Given the description of an element on the screen output the (x, y) to click on. 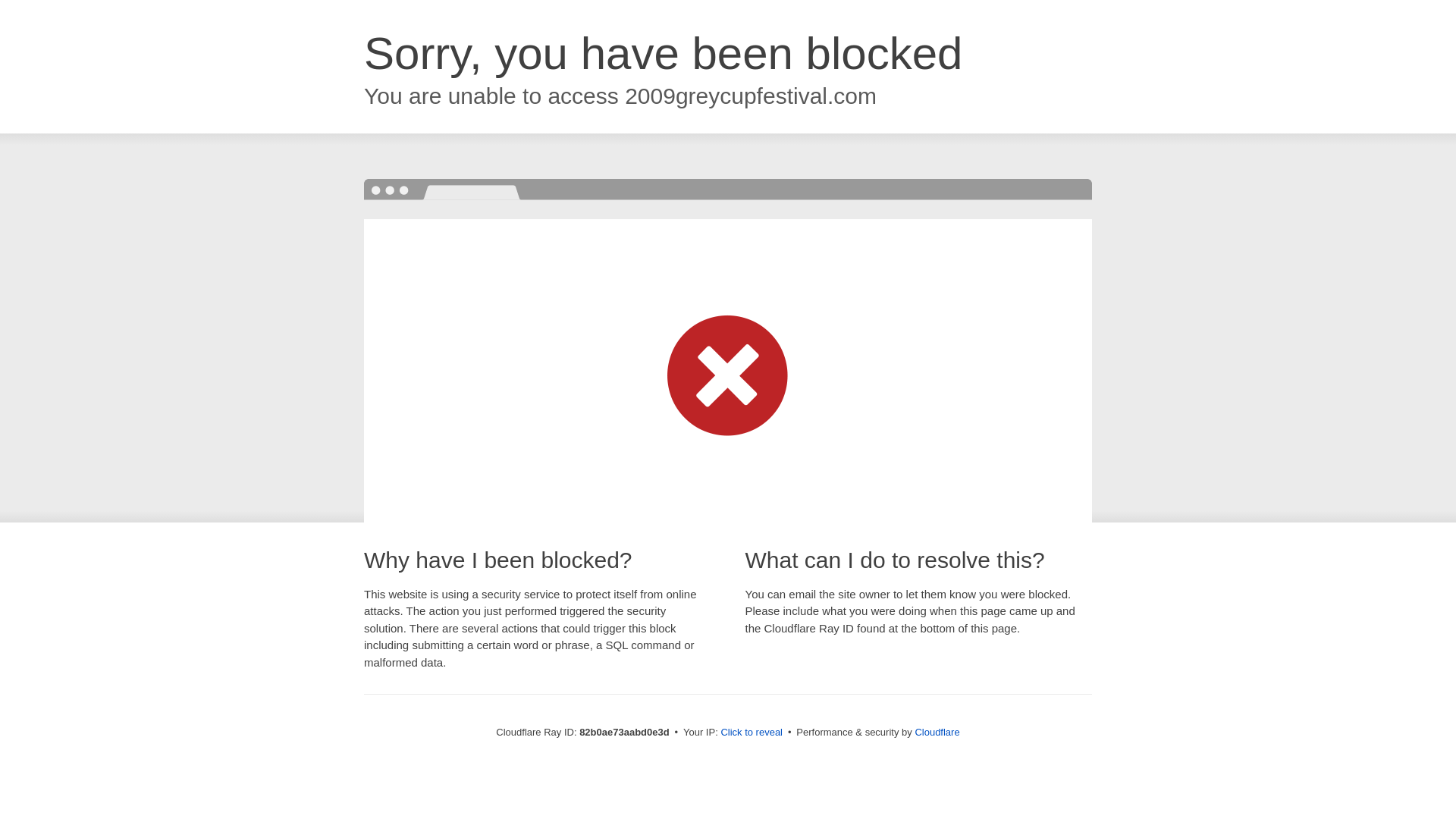
Click to reveal Element type: text (751, 732)
Cloudflare Element type: text (936, 731)
